Given the description of an element on the screen output the (x, y) to click on. 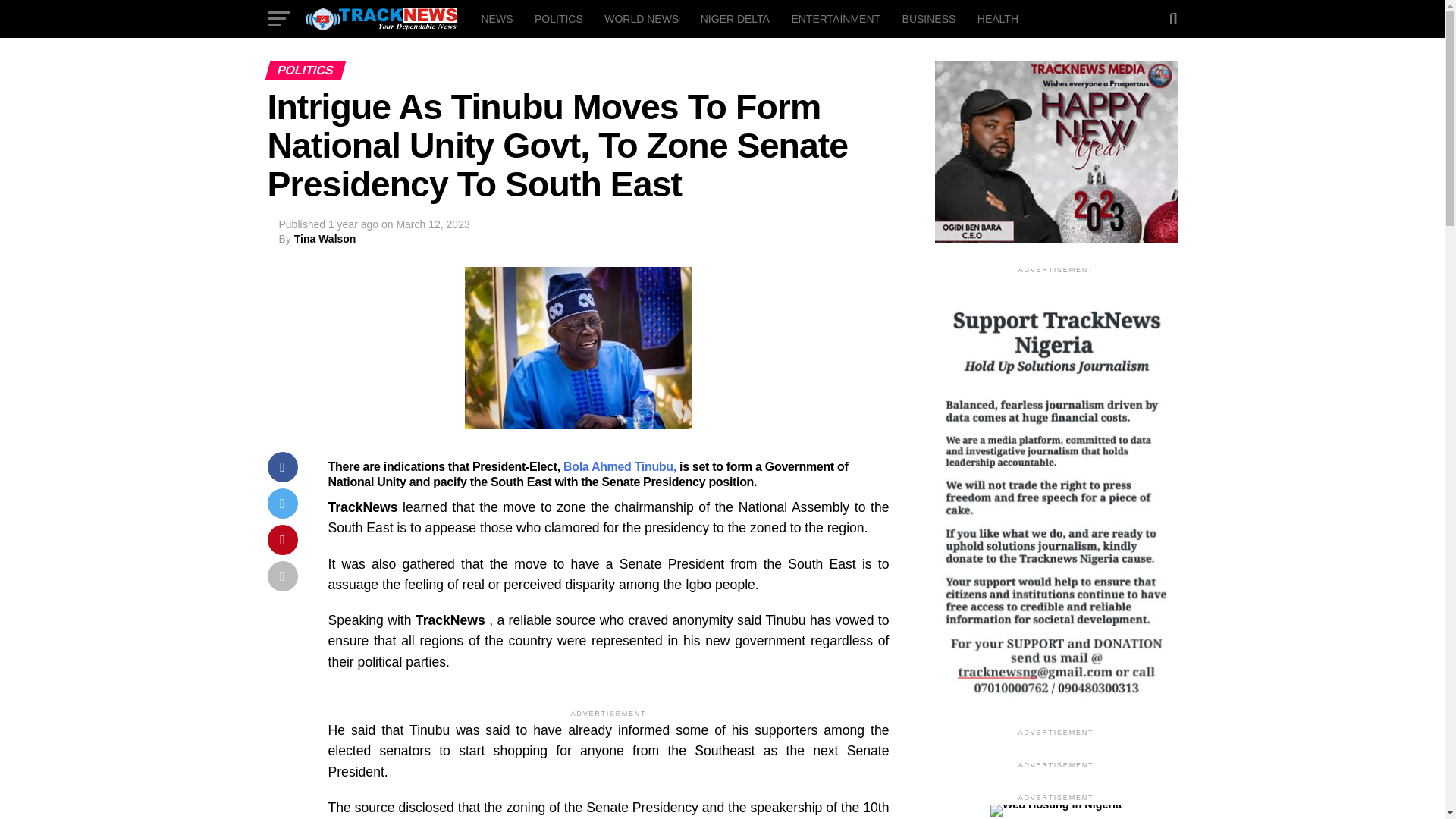
POLITICS (558, 18)
ENTERTAINMENT (835, 18)
NIGER DELTA (734, 18)
WORLD NEWS (641, 18)
Posts by Tina Walson (325, 238)
NEWS (496, 18)
Web Hosting in Nigeria (1055, 804)
